Given the description of an element on the screen output the (x, y) to click on. 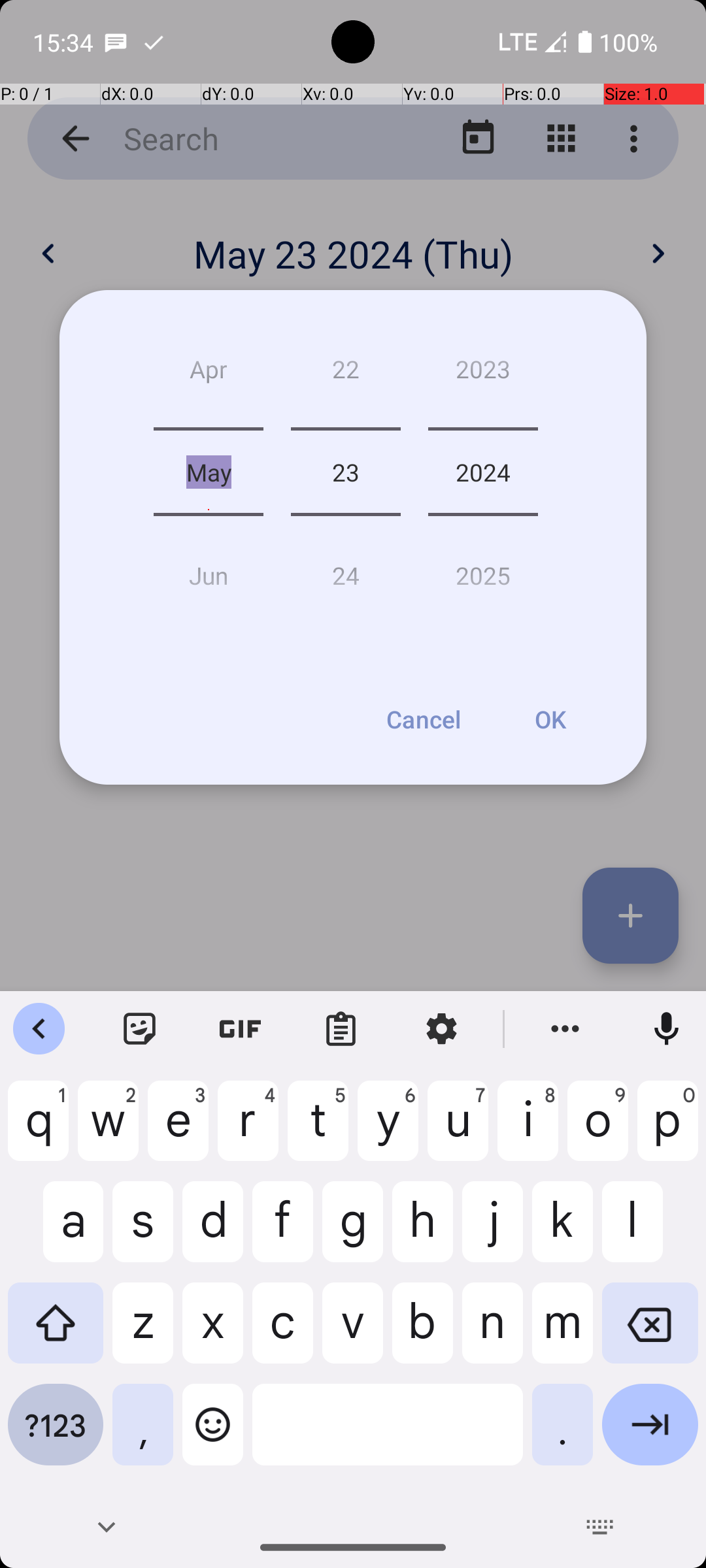
Apr Element type: android.widget.Button (208, 373)
May Element type: android.widget.EditText (208, 471)
Jun Element type: android.widget.Button (208, 569)
2025 Element type: android.widget.Button (482, 569)
